Given the description of an element on the screen output the (x, y) to click on. 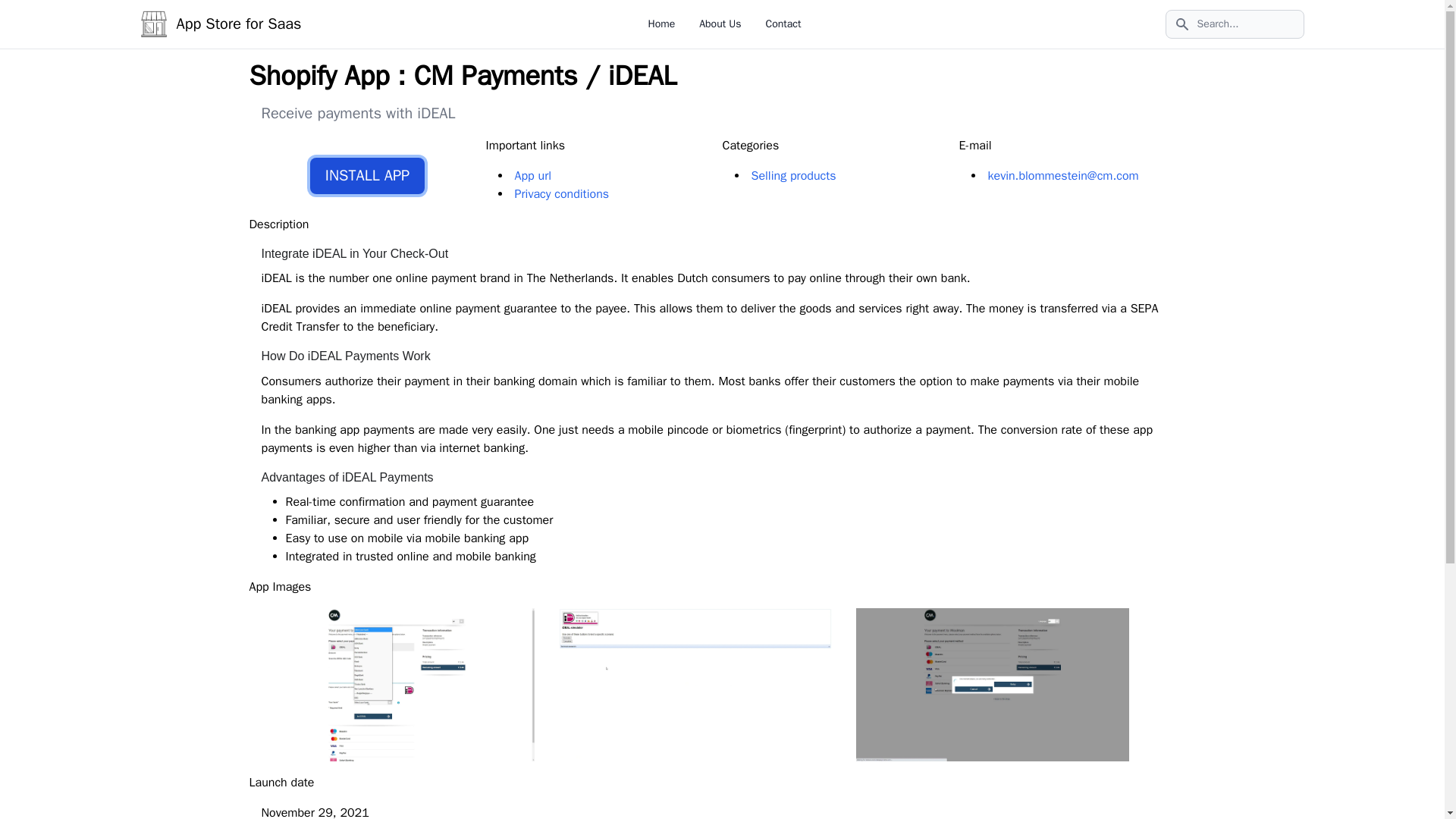
INSTALL APP (367, 176)
App url (532, 175)
Home (661, 23)
Selling products (793, 175)
App Store for Saas (220, 23)
About Us (719, 23)
Privacy conditions (560, 193)
Contact (783, 23)
